Given the description of an element on the screen output the (x, y) to click on. 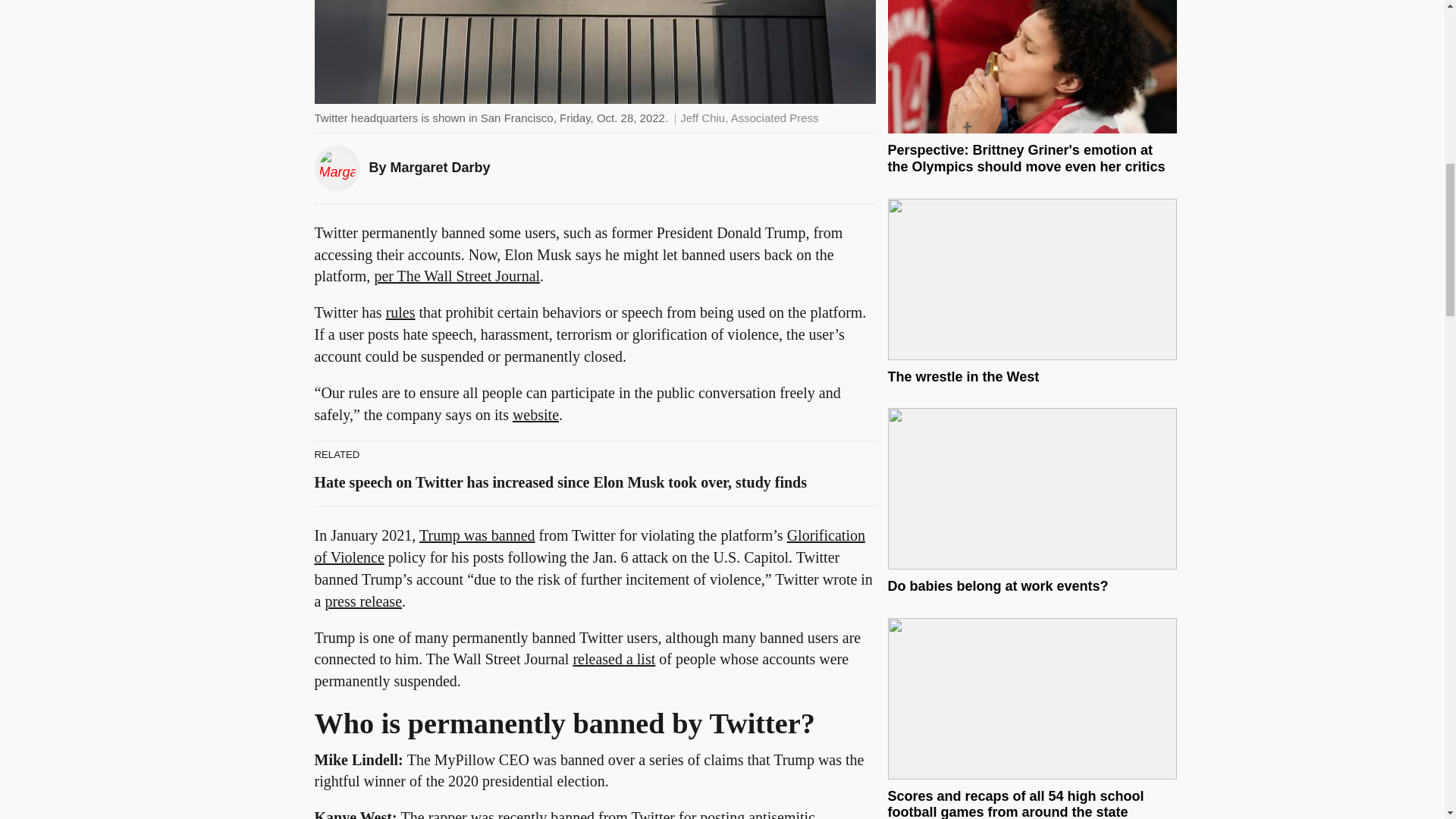
Glorification of Violence (589, 546)
released a list (613, 658)
per The Wall Street Journal (457, 275)
Margaret Darby (440, 167)
recently banned (545, 814)
website (535, 414)
press release (362, 600)
Trump was banned (477, 535)
rules (399, 312)
